Given the description of an element on the screen output the (x, y) to click on. 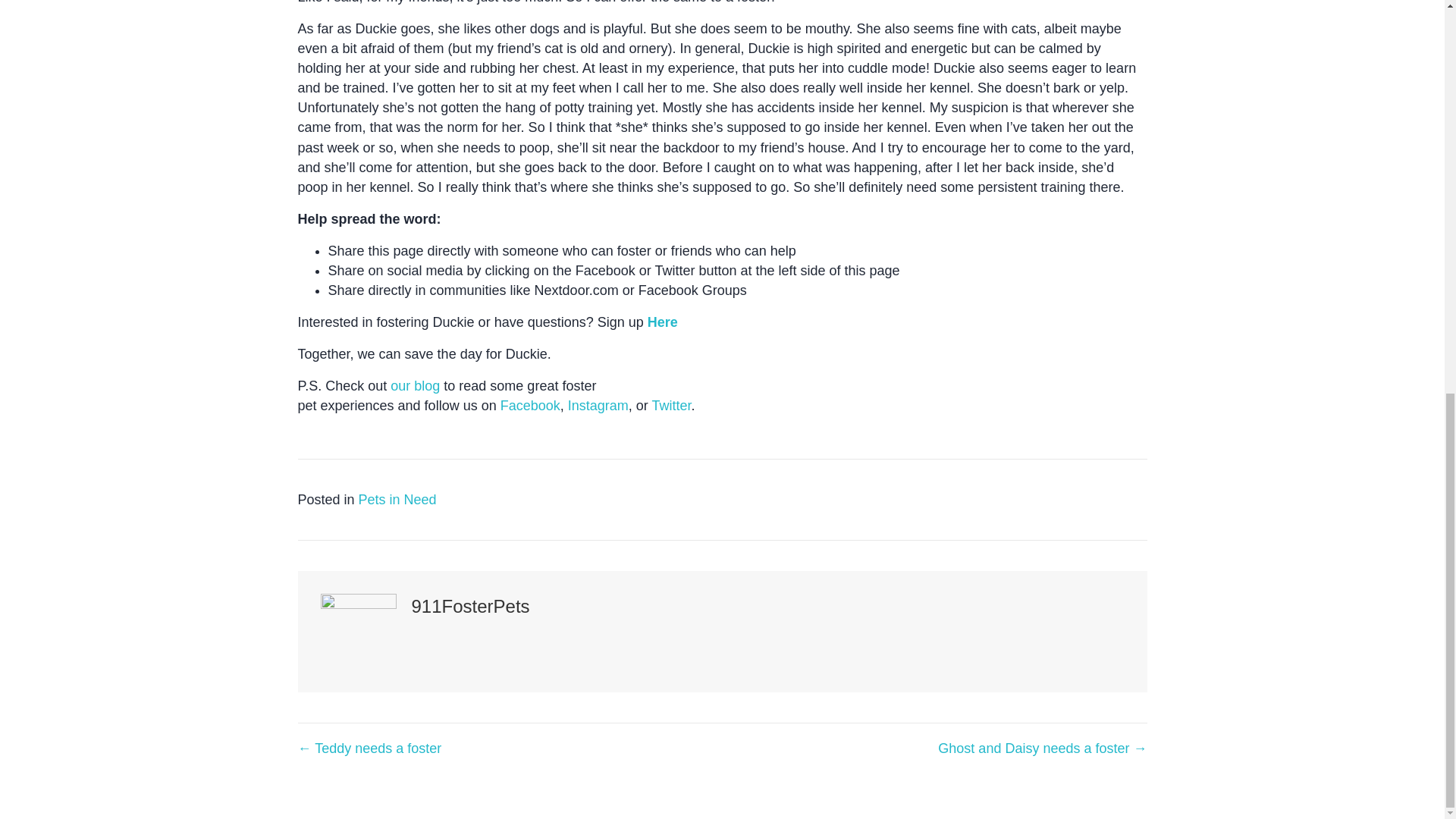
Duckie's story (662, 322)
Facebook (530, 405)
our blog (414, 385)
Pets in Need (397, 499)
Twitter (670, 405)
Twitter (670, 405)
our blog (414, 385)
Instagram (597, 405)
Here (662, 322)
Instagram (597, 405)
Facebook (530, 405)
